Given the description of an element on the screen output the (x, y) to click on. 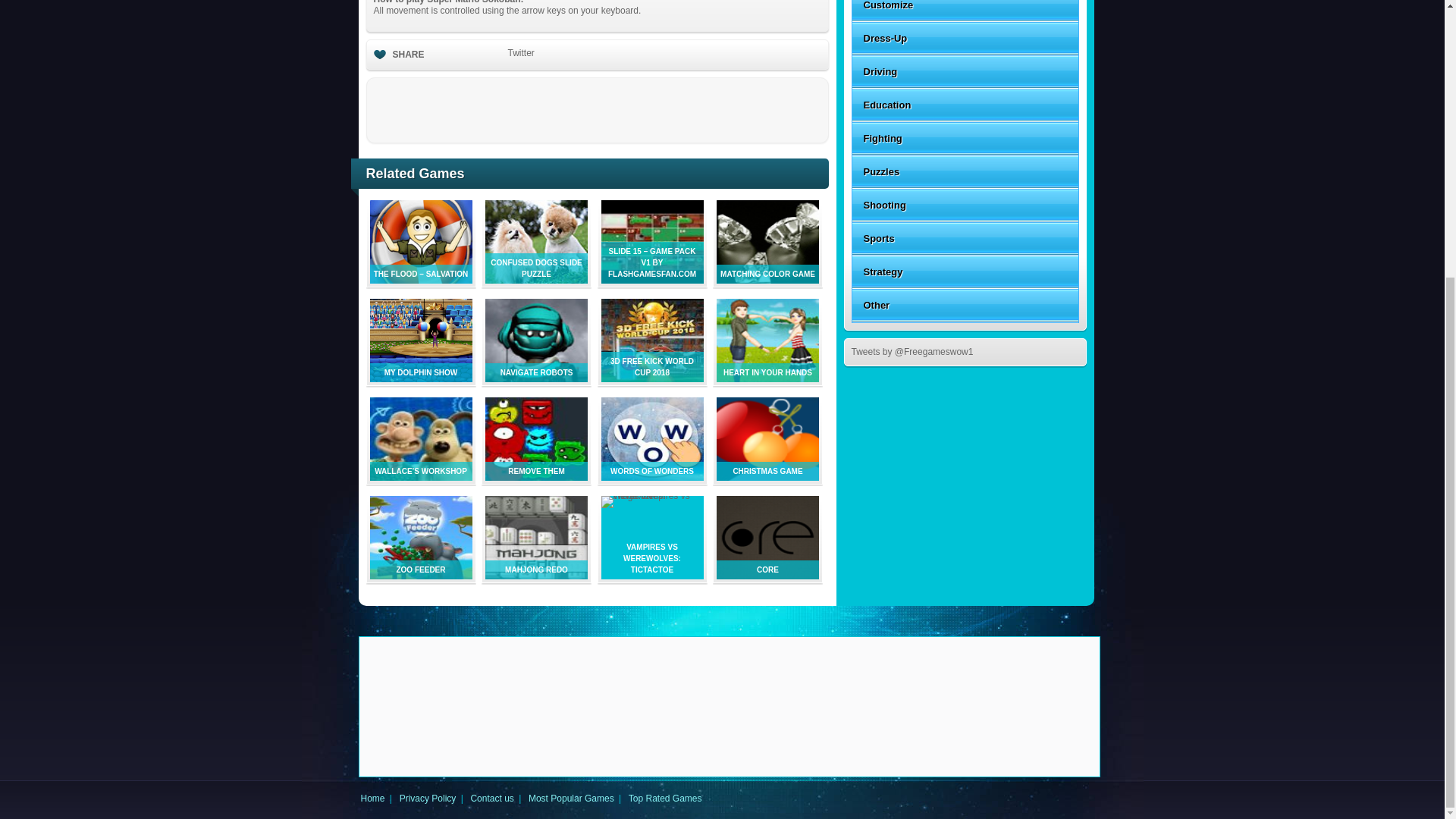
CONFUSED DOGS SLIDE PUZZLE (536, 280)
VAMPIRES VS WEREWOLVES: TICTACTOE (651, 495)
Dress-Up (964, 38)
REMOVE THEM (536, 477)
MY DOLPHIN SHOW (420, 378)
HEART IN YOUR HANDS (767, 378)
CORE (767, 575)
Home (373, 798)
CHRISTMAS GAME (767, 477)
Fighting (964, 138)
WORDS OF WONDERS (651, 477)
Twitter (521, 52)
Driving (964, 71)
Strategy (964, 272)
ZOO FEEDER (420, 575)
